Given the description of an element on the screen output the (x, y) to click on. 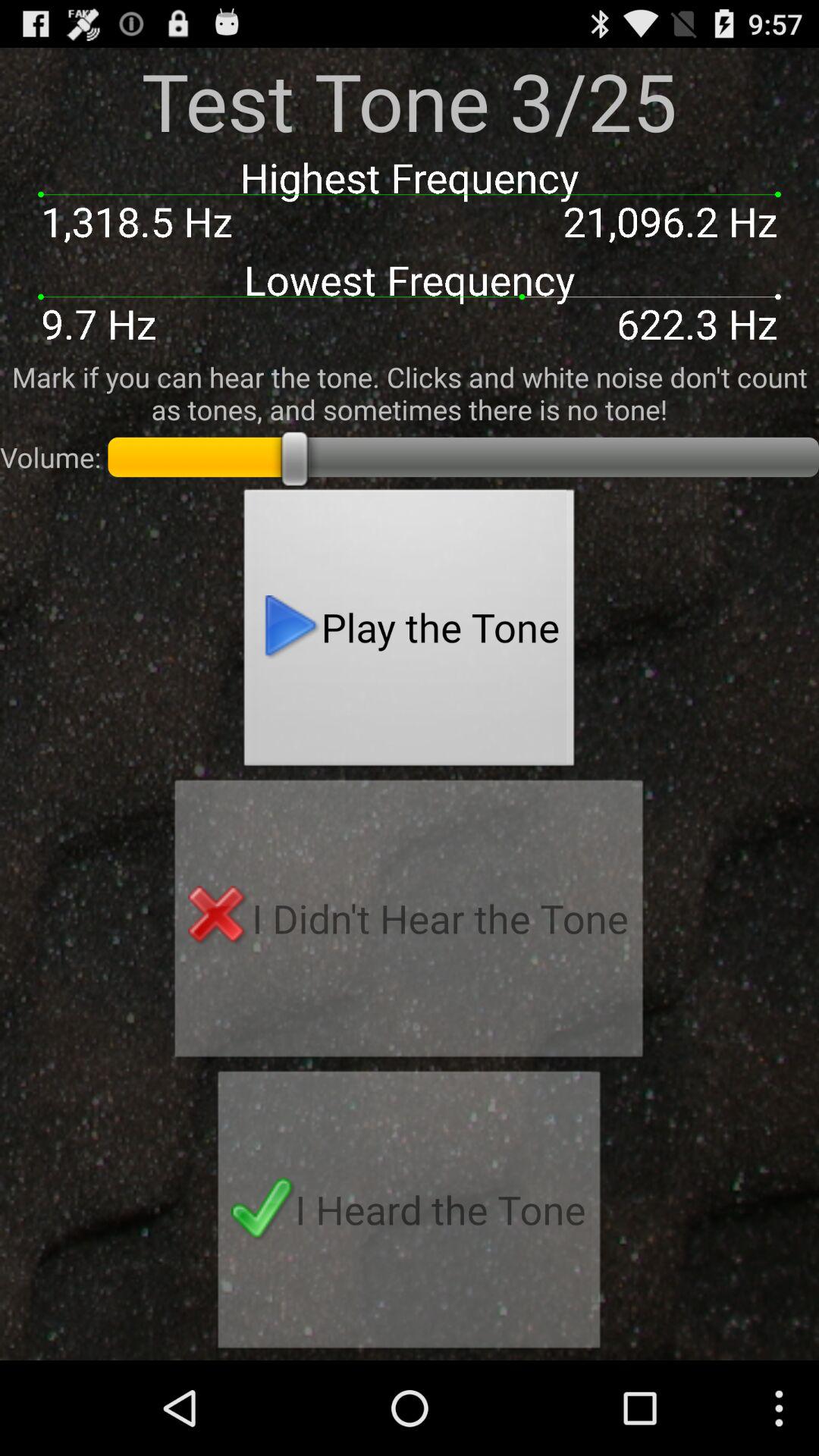
scroll until i didn t icon (409, 922)
